Given the description of an element on the screen output the (x, y) to click on. 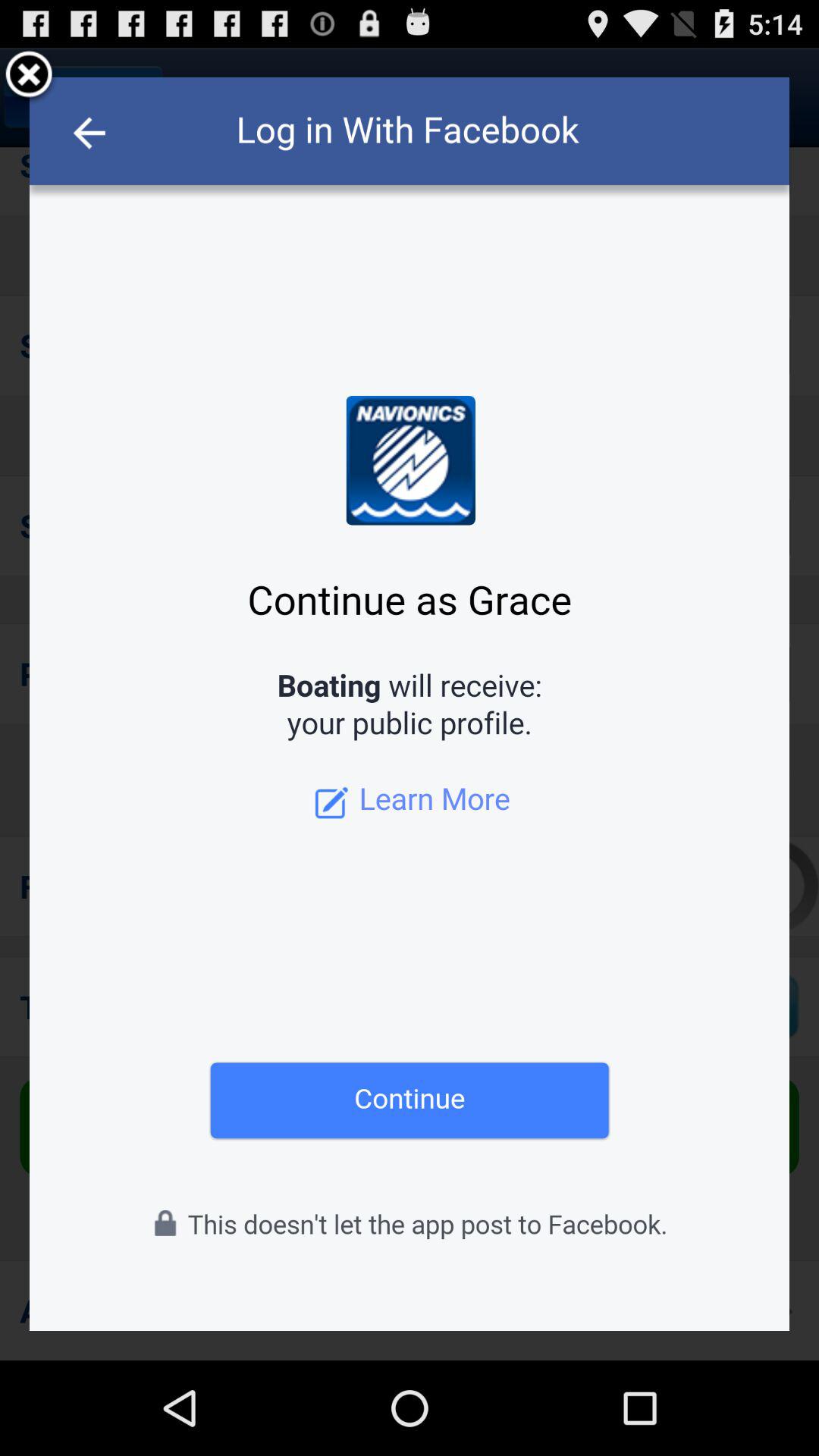
close facebook pop-up (29, 76)
